Given the description of an element on the screen output the (x, y) to click on. 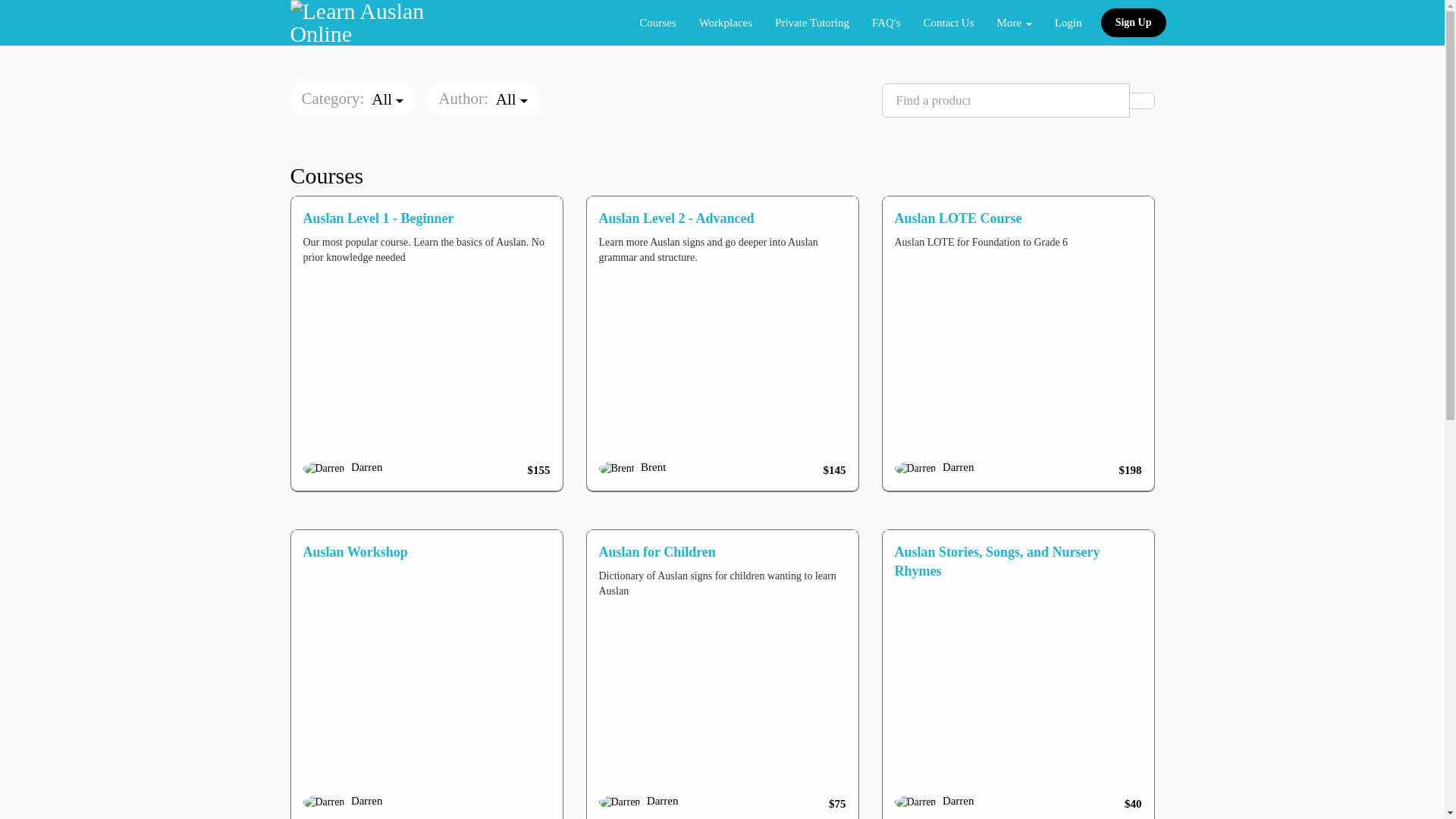
Courses Element type: text (657, 22)
Private Tutoring Element type: text (811, 22)
Workplaces Element type: text (725, 22)
All Element type: text (387, 99)
Login Element type: text (1068, 22)
More Element type: text (1014, 22)
Sign Up Element type: text (1133, 22)
Contact Us Element type: text (948, 22)
All Element type: text (511, 99)
FAQ's Element type: text (885, 22)
